Given the description of an element on the screen output the (x, y) to click on. 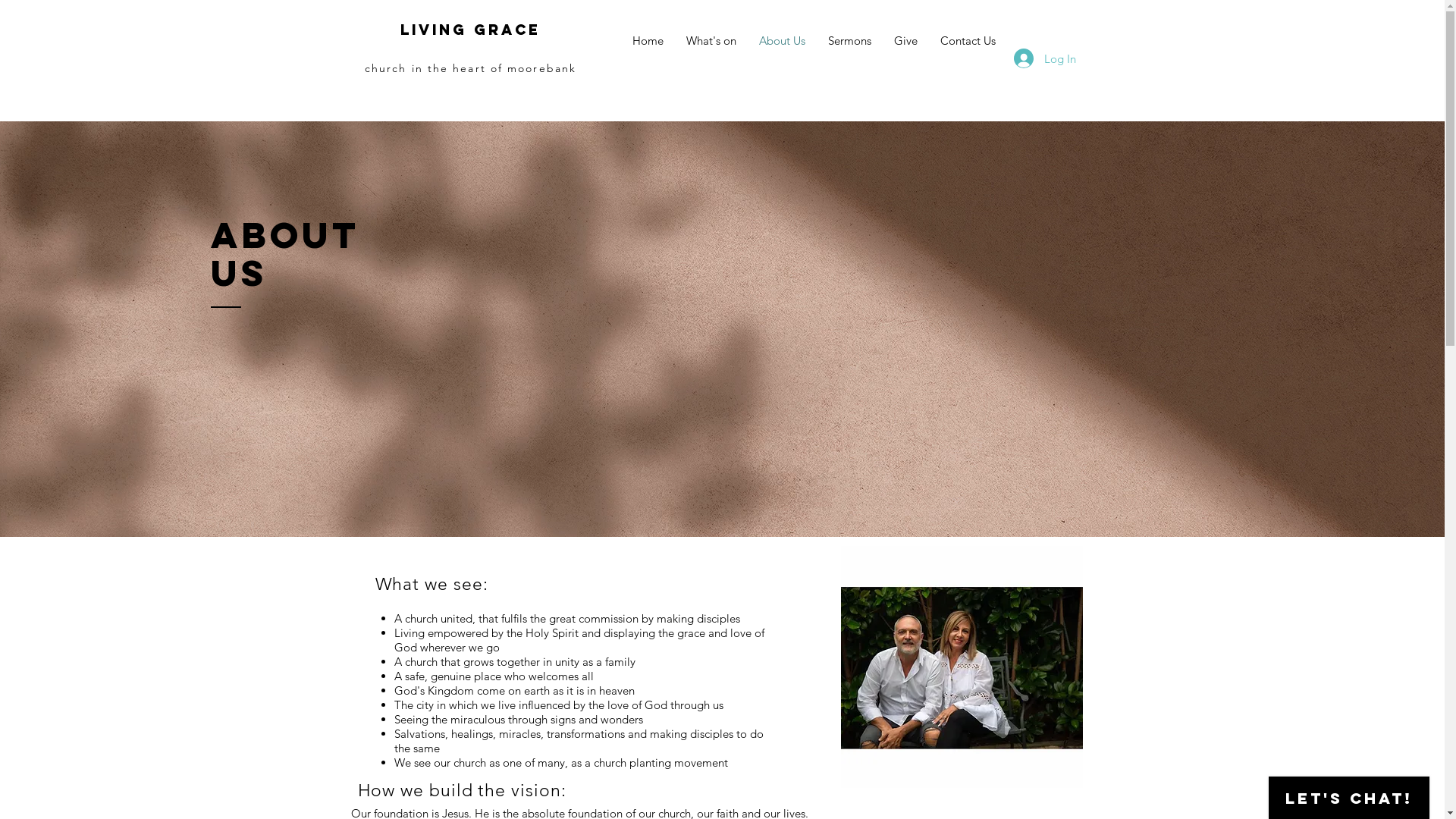
Living grace Element type: text (470, 29)
Home Element type: text (647, 40)
What's on Element type: text (710, 40)
About Us Element type: text (781, 40)
Sermons Element type: text (848, 40)
Give Element type: text (905, 40)
church in the heart of moorebank Element type: text (470, 68)
Contact Us Element type: text (967, 40)
Log In Element type: text (1043, 57)
